Given the description of an element on the screen output the (x, y) to click on. 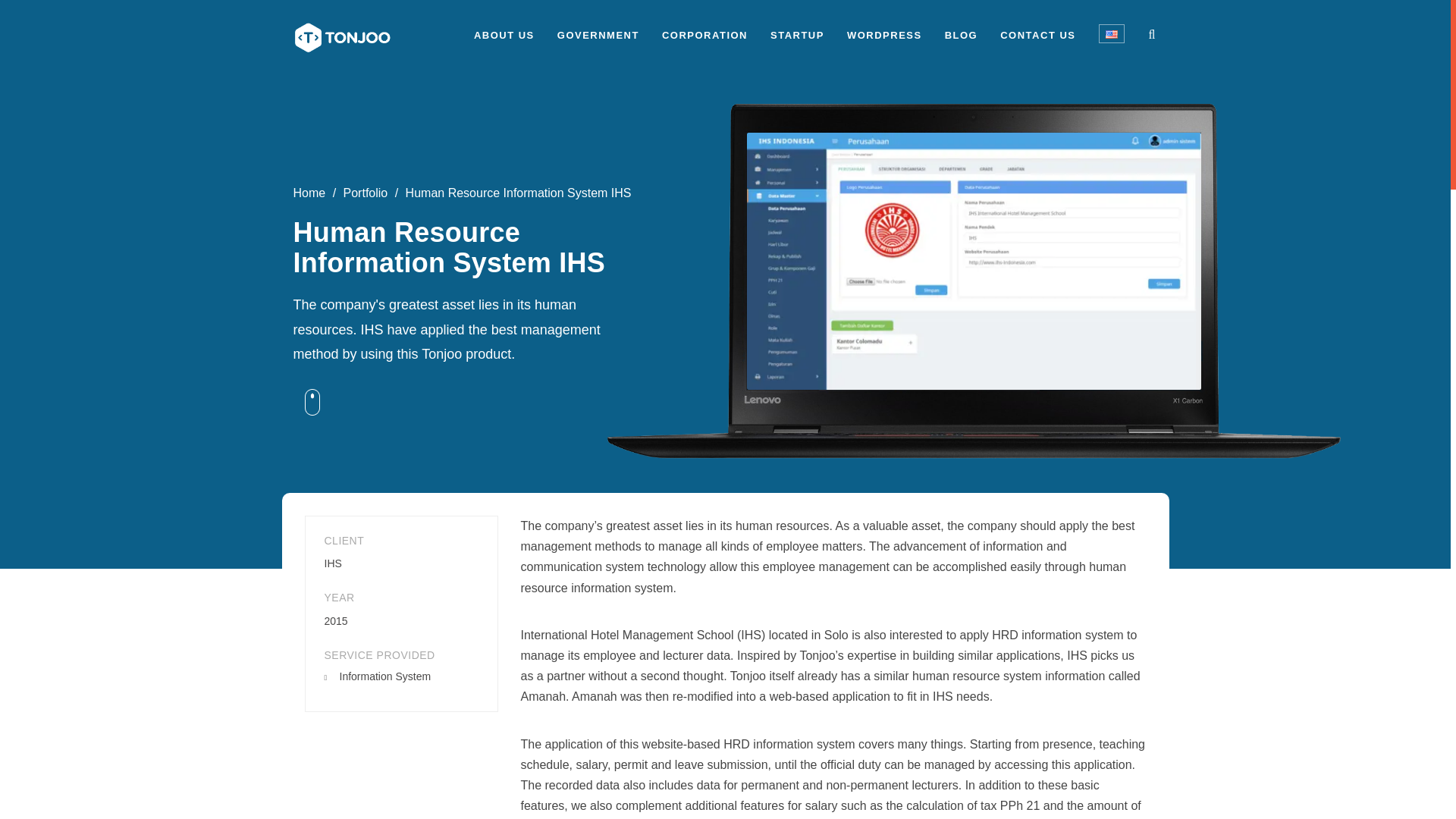
CORPORATION (705, 34)
Government (598, 34)
STARTUP (797, 34)
About Us (504, 34)
WORDPRESS (884, 34)
Home (308, 192)
WordPress (884, 34)
Startup (797, 34)
GOVERNMENT (598, 34)
BLOG (961, 34)
Corporation (705, 34)
Portfolio (365, 192)
ABOUT US (504, 34)
Contact Us (1037, 34)
CONTACT US (1037, 34)
